Given the description of an element on the screen output the (x, y) to click on. 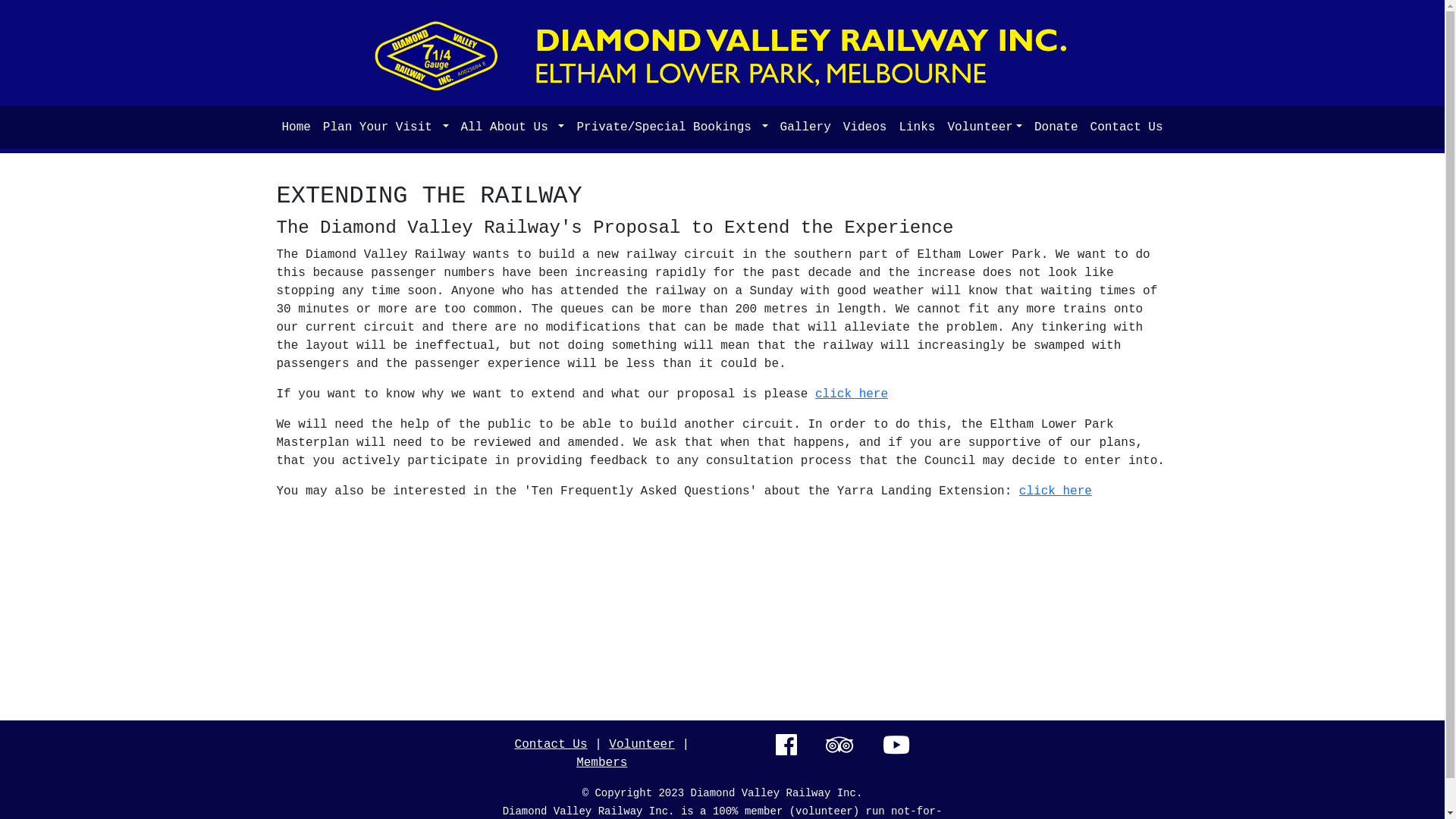
Gallery Element type: text (805, 127)
All About Us Element type: text (513, 127)
Private/Special Bookings Element type: text (671, 127)
click here Element type: text (851, 394)
Contact Us Element type: text (550, 744)
Links Element type: text (916, 127)
Donate Element type: text (1056, 127)
Volunteer Element type: text (984, 127)
Volunteer Element type: text (641, 744)
Contact Us Element type: text (1126, 127)
Home Element type: text (295, 127)
click here Element type: text (1055, 491)
Plan Your Visit Element type: text (385, 127)
Videos Element type: text (865, 127)
Members Element type: text (601, 762)
